Given the description of an element on the screen output the (x, y) to click on. 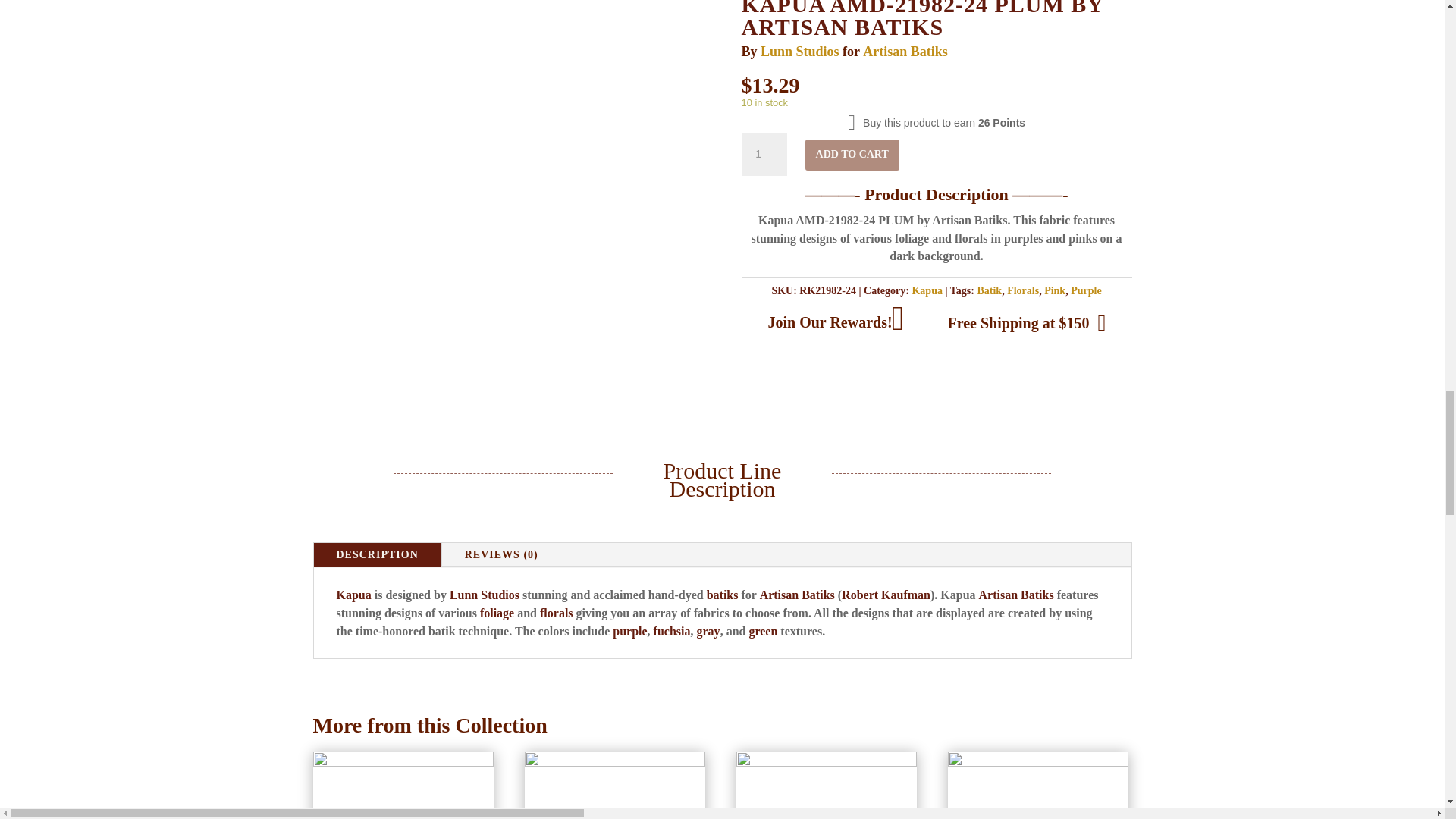
Batik (988, 290)
Pink (1054, 290)
Kapua (353, 594)
Lunn Studios (484, 594)
Batiks (1037, 594)
Artisan Batiks (797, 594)
gray (708, 631)
fuchsia (671, 631)
1 (764, 154)
ADD TO CART (852, 154)
